Given the description of an element on the screen output the (x, y) to click on. 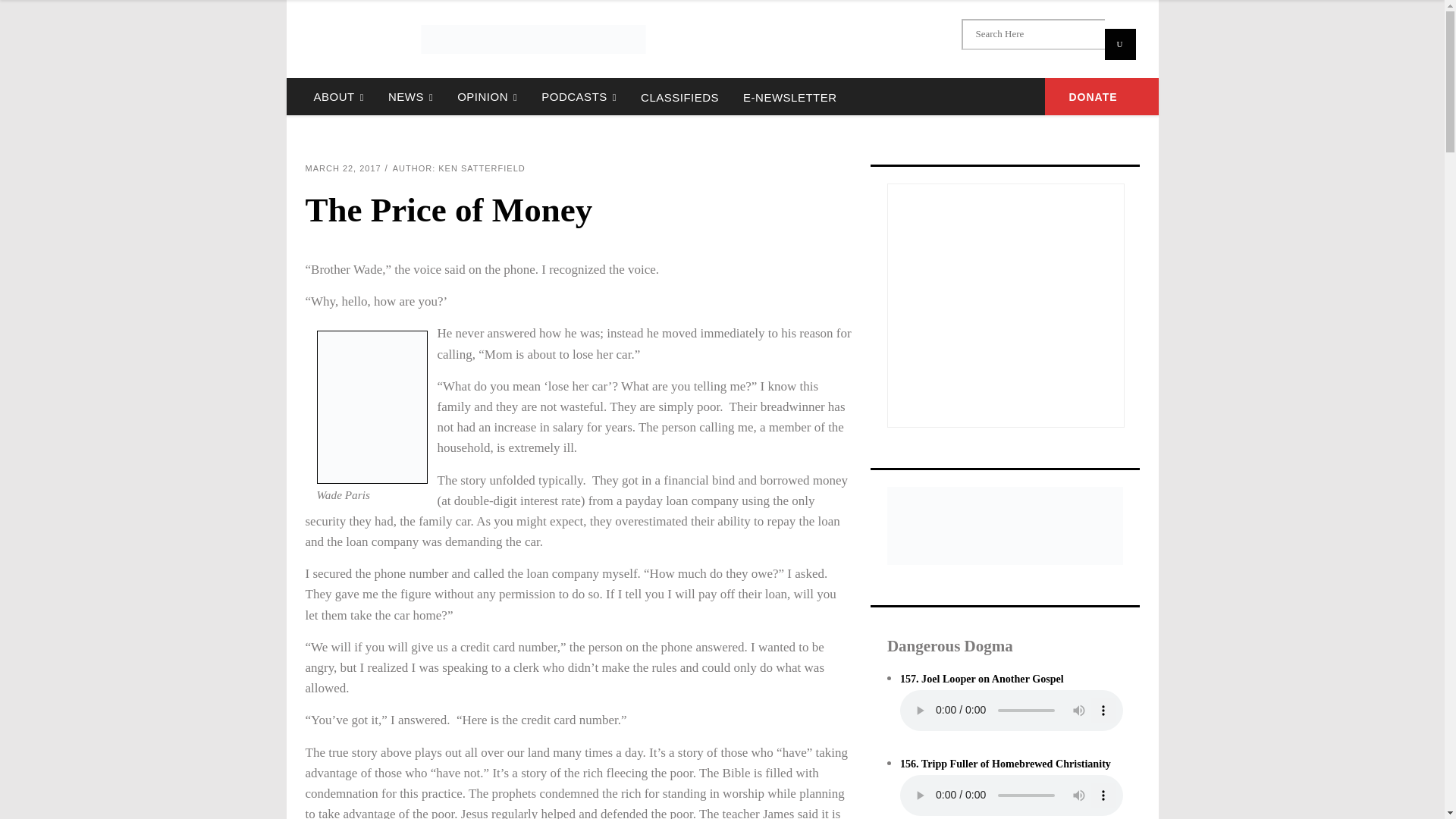
U (1119, 43)
U (1119, 43)
ABOUT (338, 96)
NEWS (410, 96)
DONATE (1101, 96)
CLASSIFIEDS (679, 96)
OPINION (487, 96)
E-NEWSLETTER (789, 96)
U (1119, 43)
PODCASTS (578, 96)
